Given the description of an element on the screen output the (x, y) to click on. 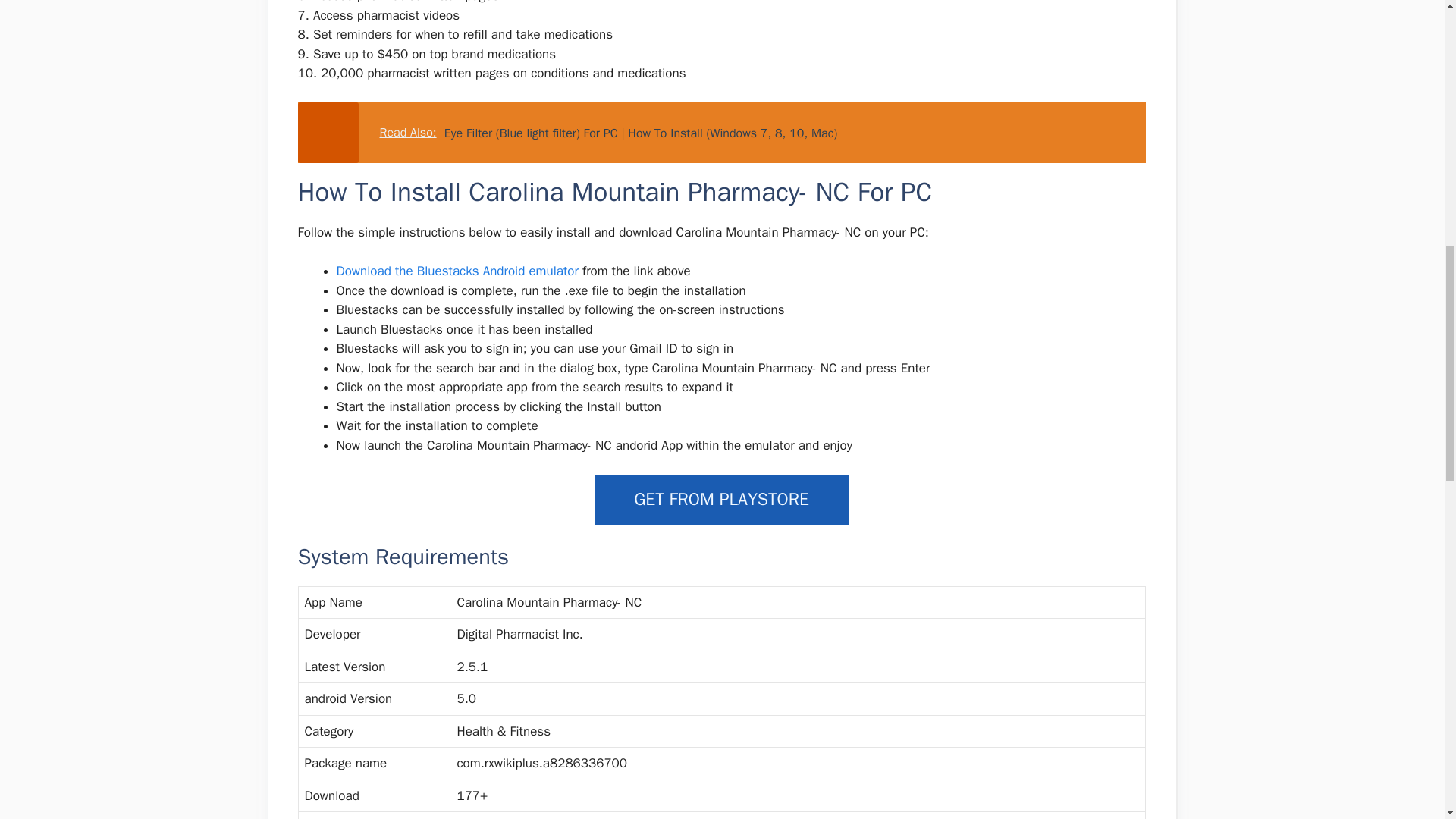
Download the Bluestacks Android emulator (459, 270)
GET FROM PLAYSTORE (721, 499)
GET FROM PLAYSTORE (721, 500)
